Given the description of an element on the screen output the (x, y) to click on. 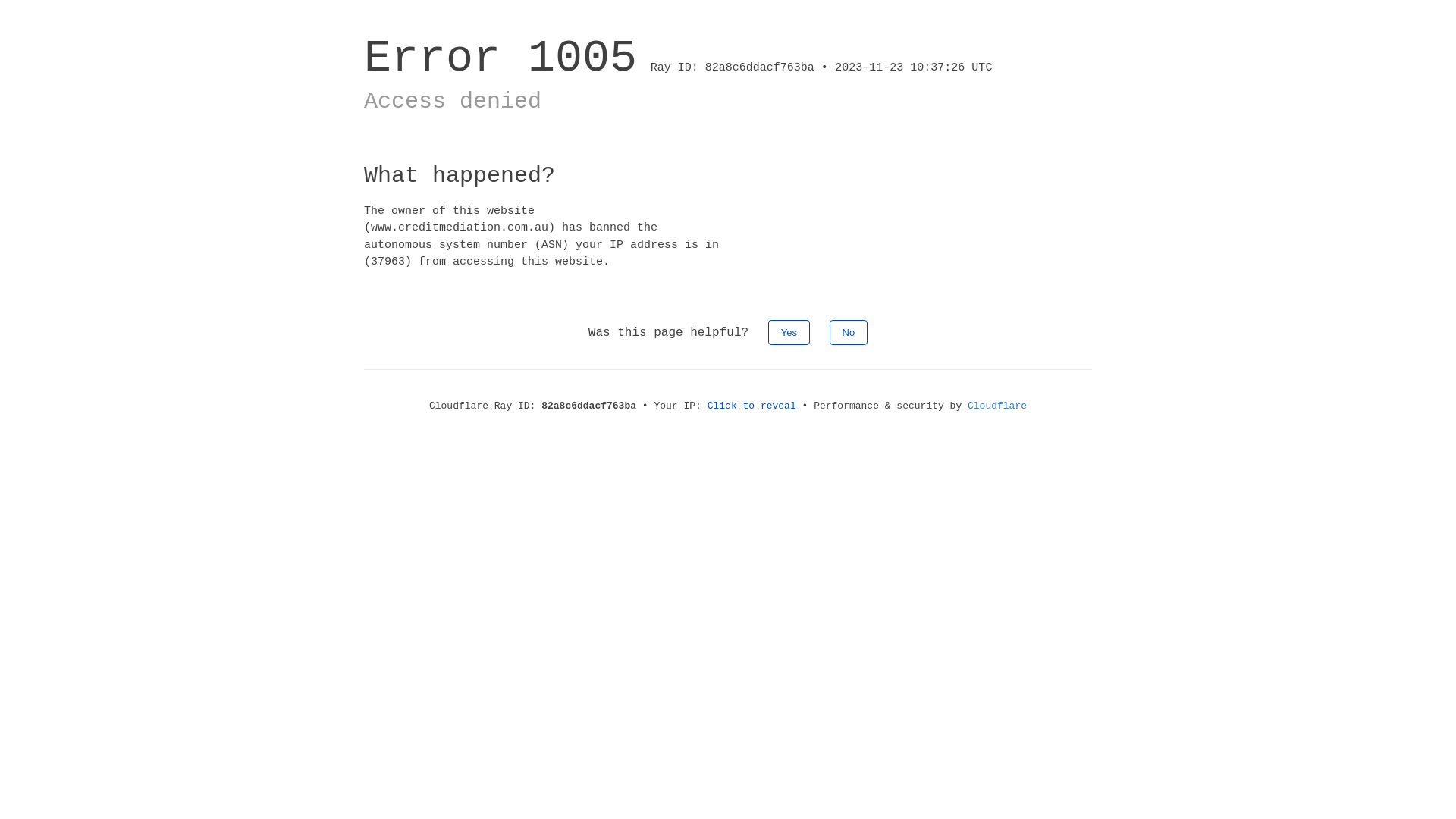
No Element type: text (848, 332)
Cloudflare Element type: text (996, 405)
Click to reveal Element type: text (751, 405)
Yes Element type: text (788, 332)
